Given the description of an element on the screen output the (x, y) to click on. 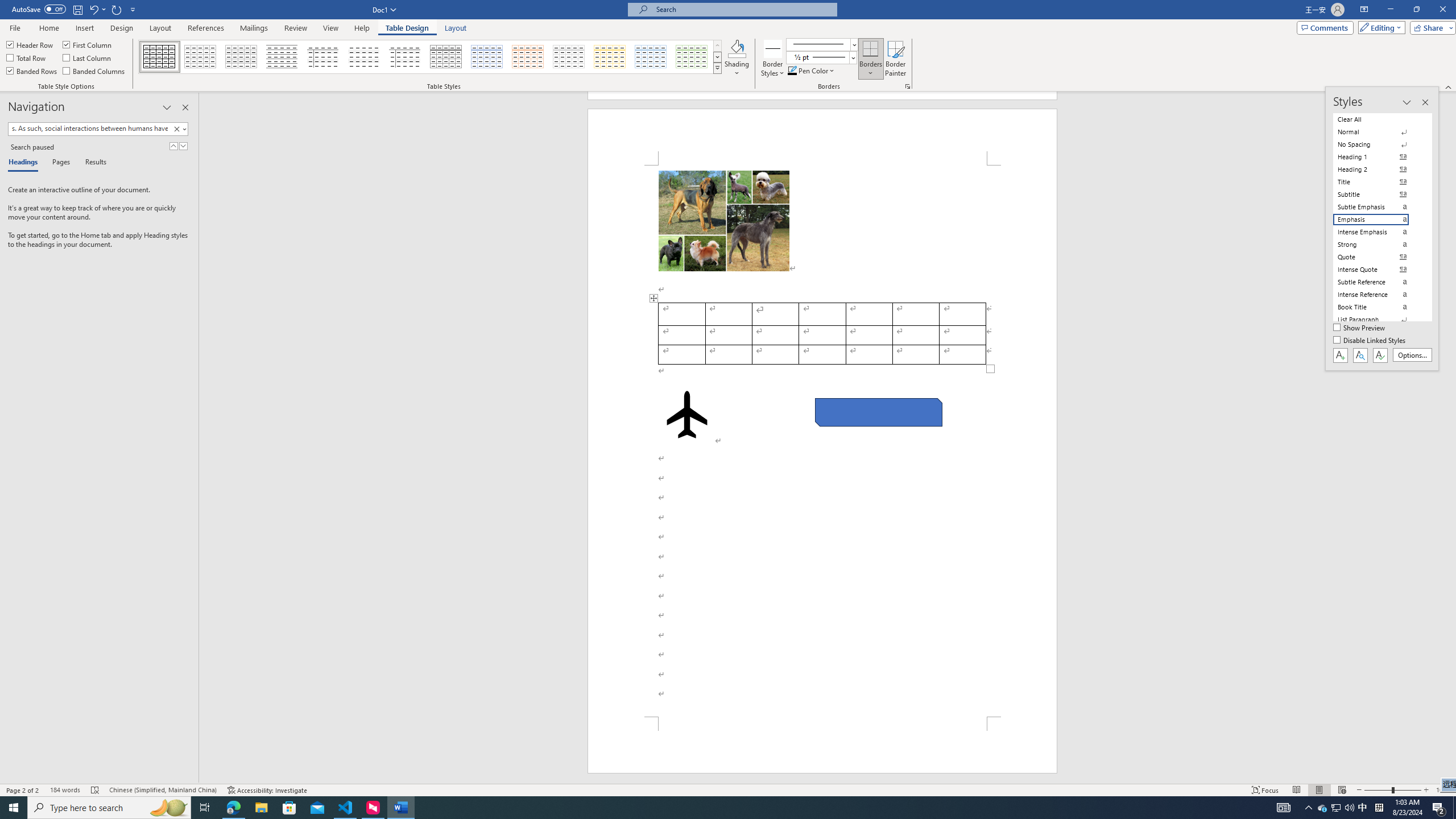
Border Painter (895, 58)
Page Number Page 2 of 2 (22, 790)
Clear (176, 128)
